Given the description of an element on the screen output the (x, y) to click on. 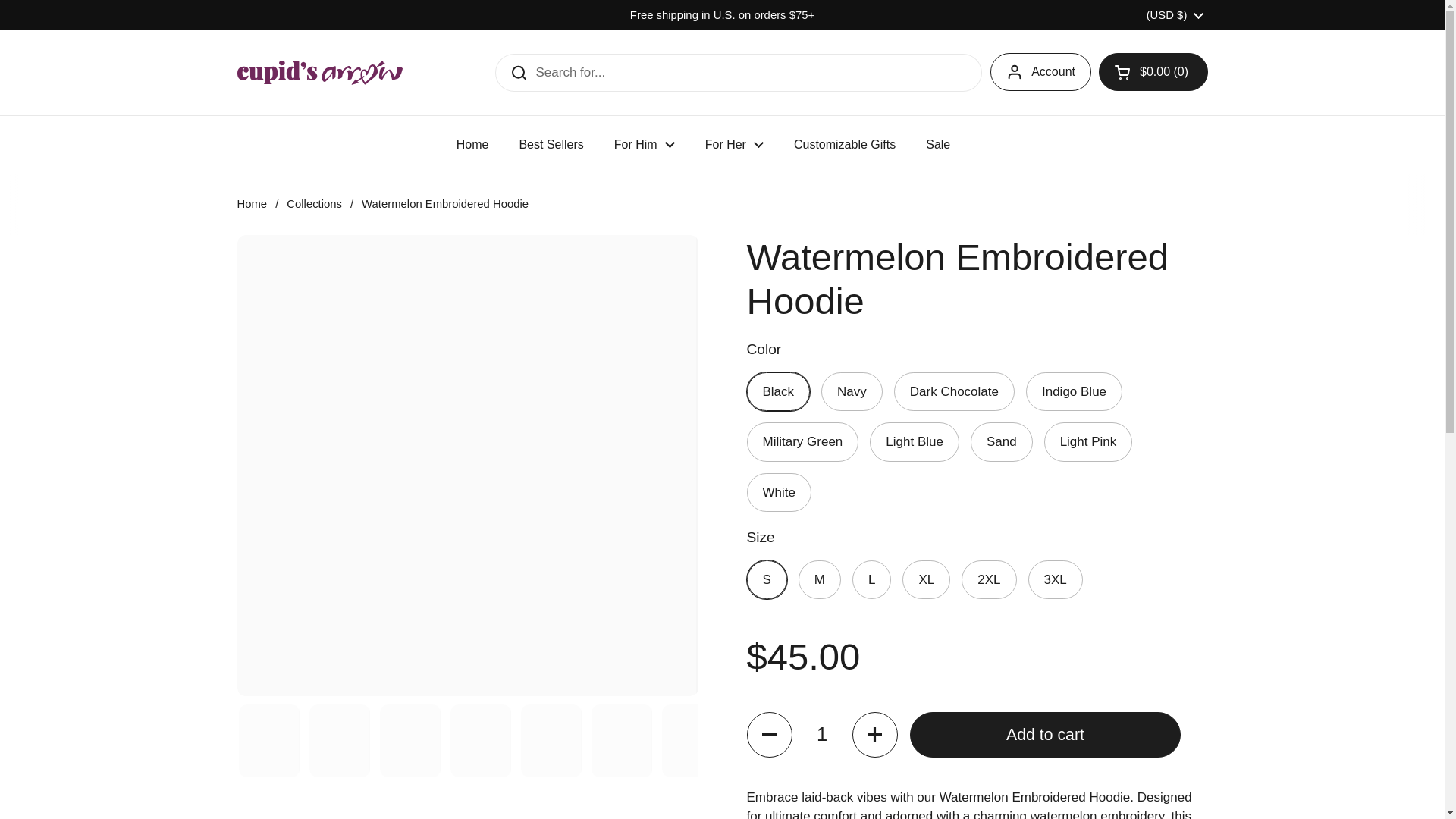
Account (1040, 71)
For Him (644, 144)
Sale (938, 144)
Best Sellers (550, 144)
Cupid's Arrow (319, 72)
For Her (734, 144)
For Him (644, 144)
Home (472, 144)
Customizable Gifts (844, 144)
